Given the description of an element on the screen output the (x, y) to click on. 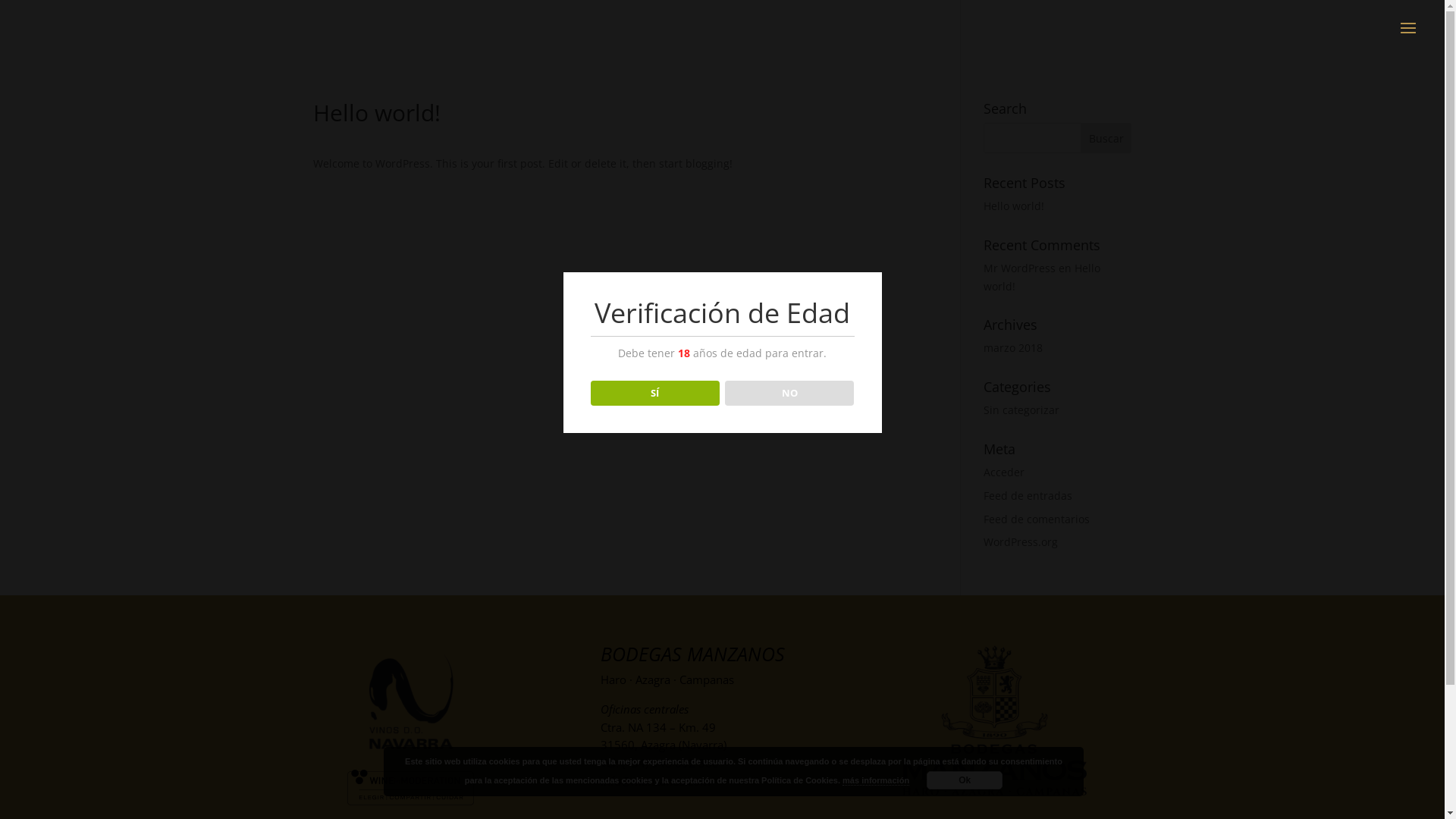
Feed de comentarios Element type: text (1036, 518)
Ok Element type: text (964, 780)
NO Element type: text (789, 393)
Sin categorizar Element type: text (1021, 409)
Buscar Element type: text (1106, 137)
Mr WordPress Element type: text (1019, 267)
Feed de entradas Element type: text (1027, 495)
Hello world! Element type: text (1013, 205)
Hello world! Element type: text (1041, 276)
WordPress.org Element type: text (1020, 541)
Acceder Element type: text (1003, 471)
marzo 2018 Element type: text (1012, 347)
